Given the description of an element on the screen output the (x, y) to click on. 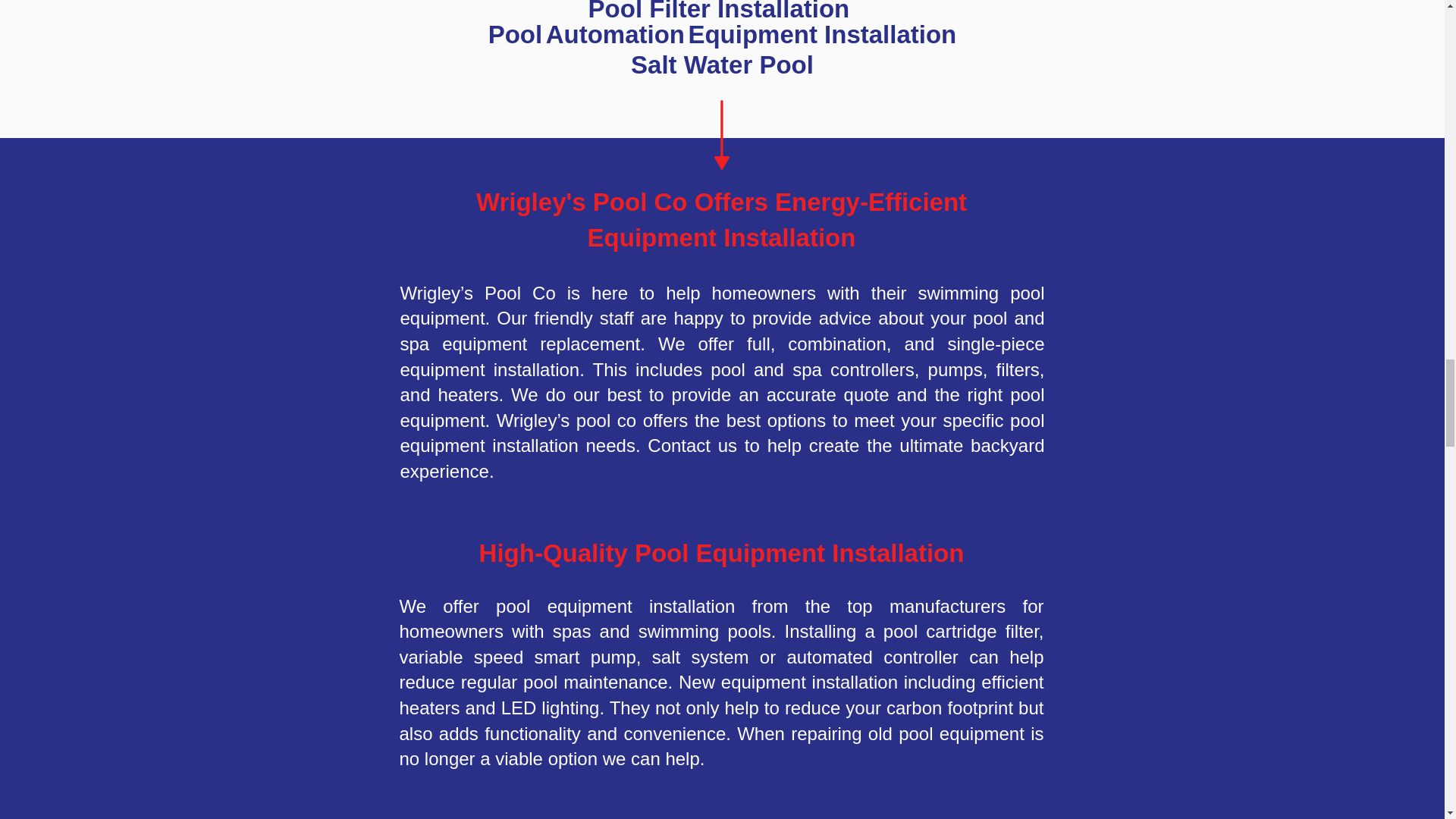
Equipment Installation (722, 237)
heaters (467, 394)
includes pool and spa controllers, pumps, filters, and  (722, 382)
automated controller (872, 657)
salt system (700, 657)
Wrigley's Pool Co Offers Energy-Efficient (721, 202)
Pool Filter Installation (719, 11)
High-Quality Pool Equipment Installation (721, 552)
